Given the description of an element on the screen output the (x, y) to click on. 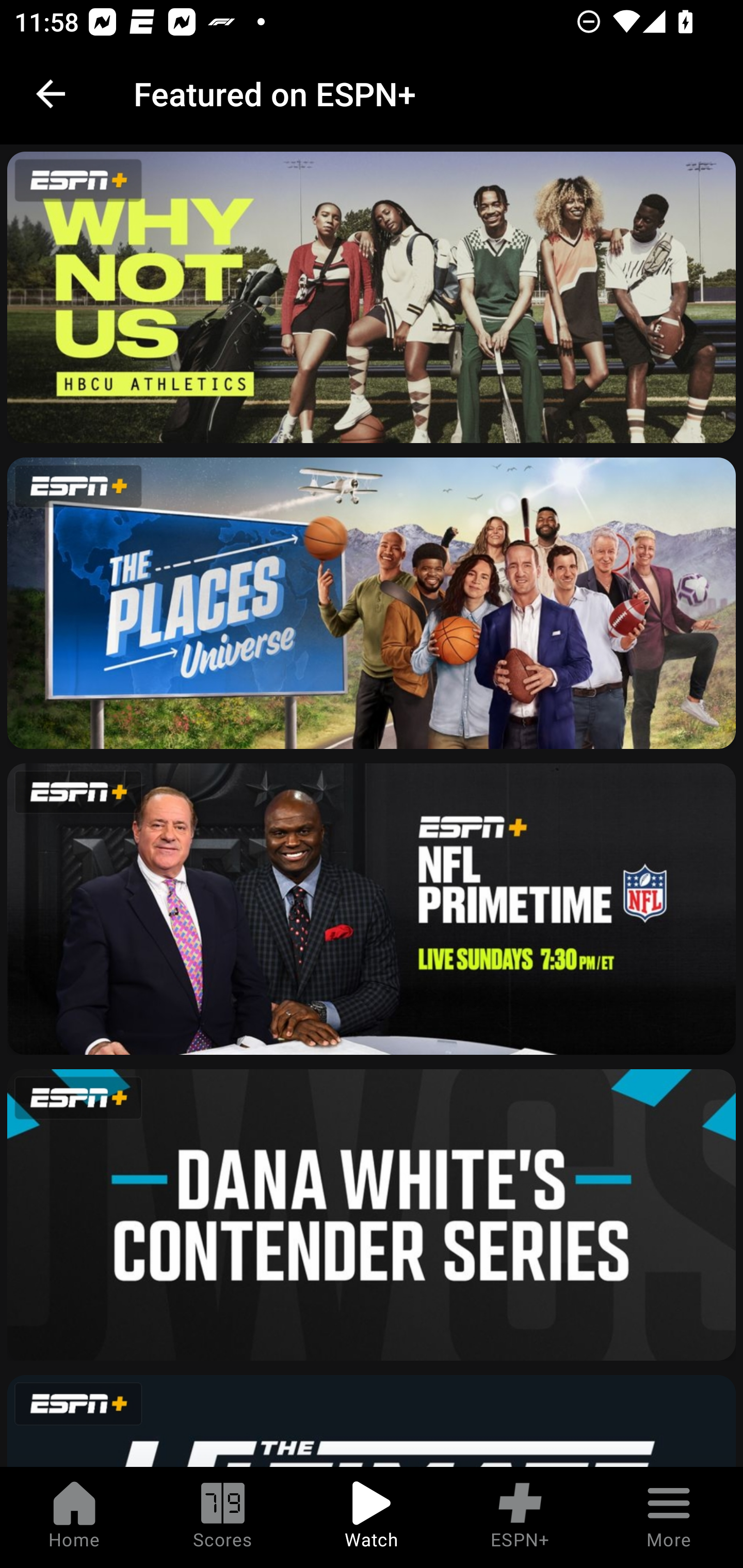
Home (74, 1517)
Scores (222, 1517)
ESPN+ (519, 1517)
More (668, 1517)
